Given the description of an element on the screen output the (x, y) to click on. 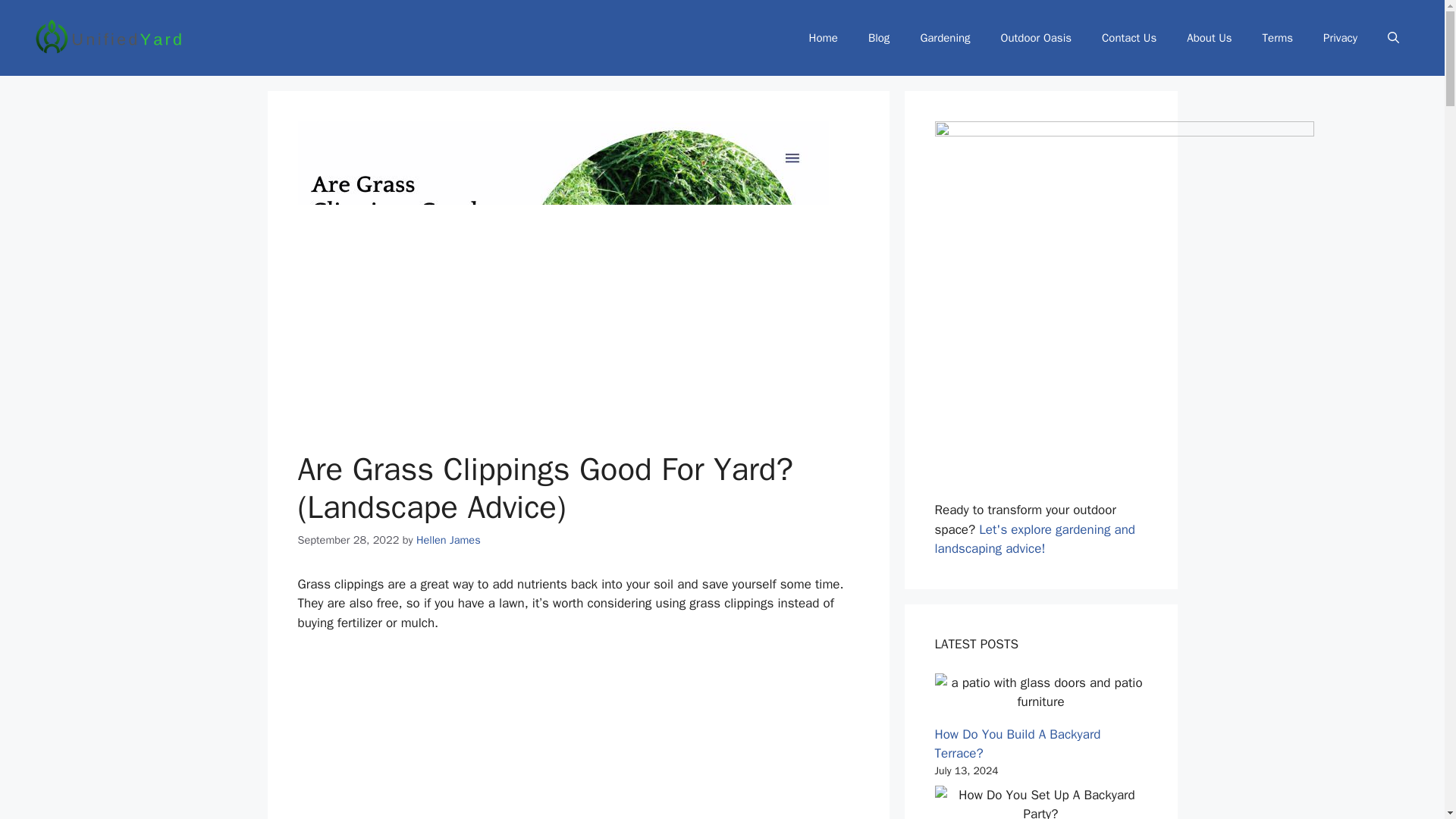
Never Throw Away Grass Clippings, DO THIS INSTEAD! (578, 735)
Home (823, 37)
Contact Us (1129, 37)
Hellen James (448, 540)
About Us (1209, 37)
Privacy (1340, 37)
Terms (1277, 37)
View all posts by Hellen James (448, 540)
Blog (878, 37)
Gardening (944, 37)
